Given the description of an element on the screen output the (x, y) to click on. 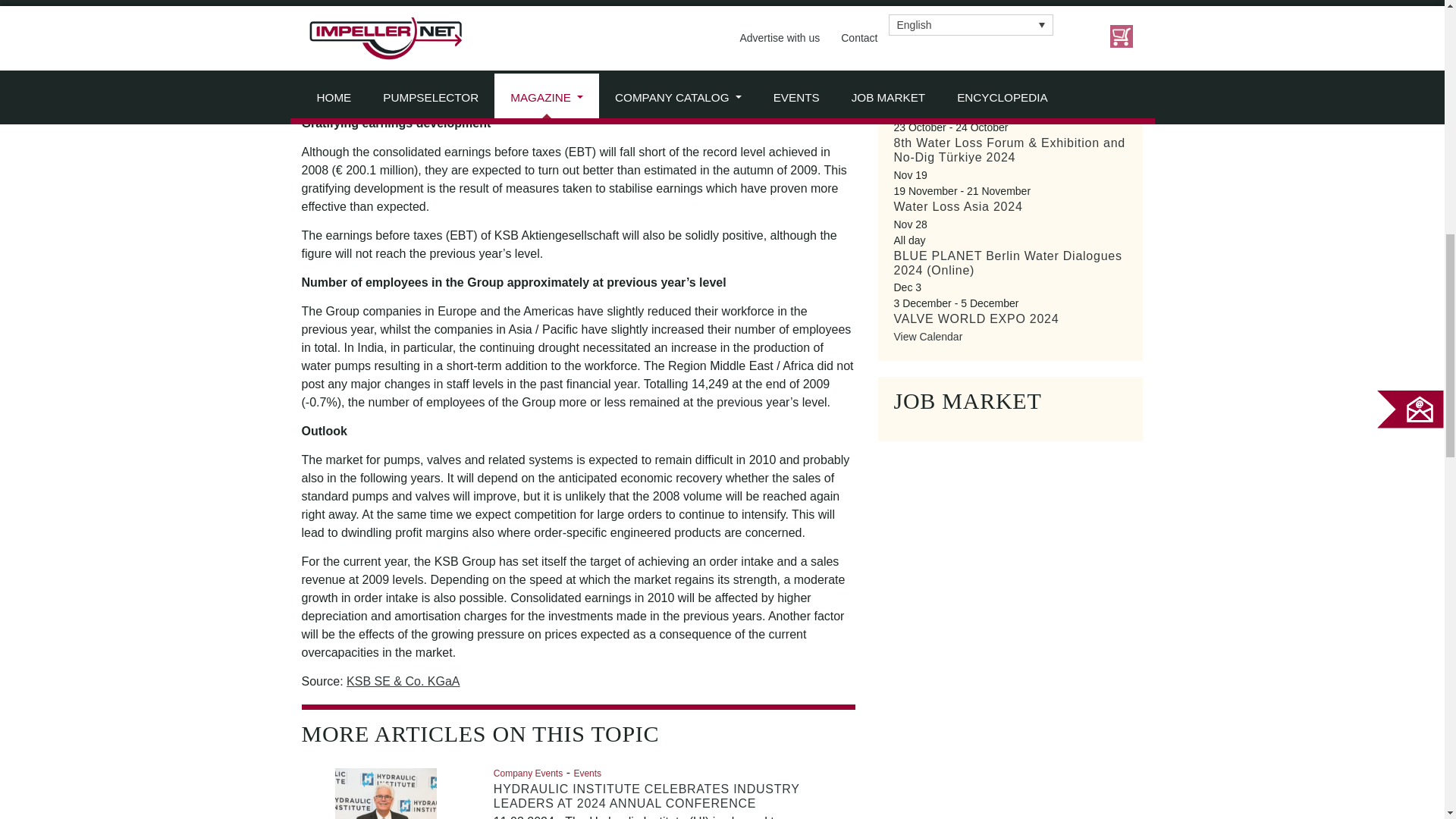
VALVE WORLD EXPO 2024 (975, 318)
Events (587, 772)
Company Events (527, 772)
View more events. (927, 336)
Water Loss Asia 2024 (957, 205)
